Given the description of an element on the screen output the (x, y) to click on. 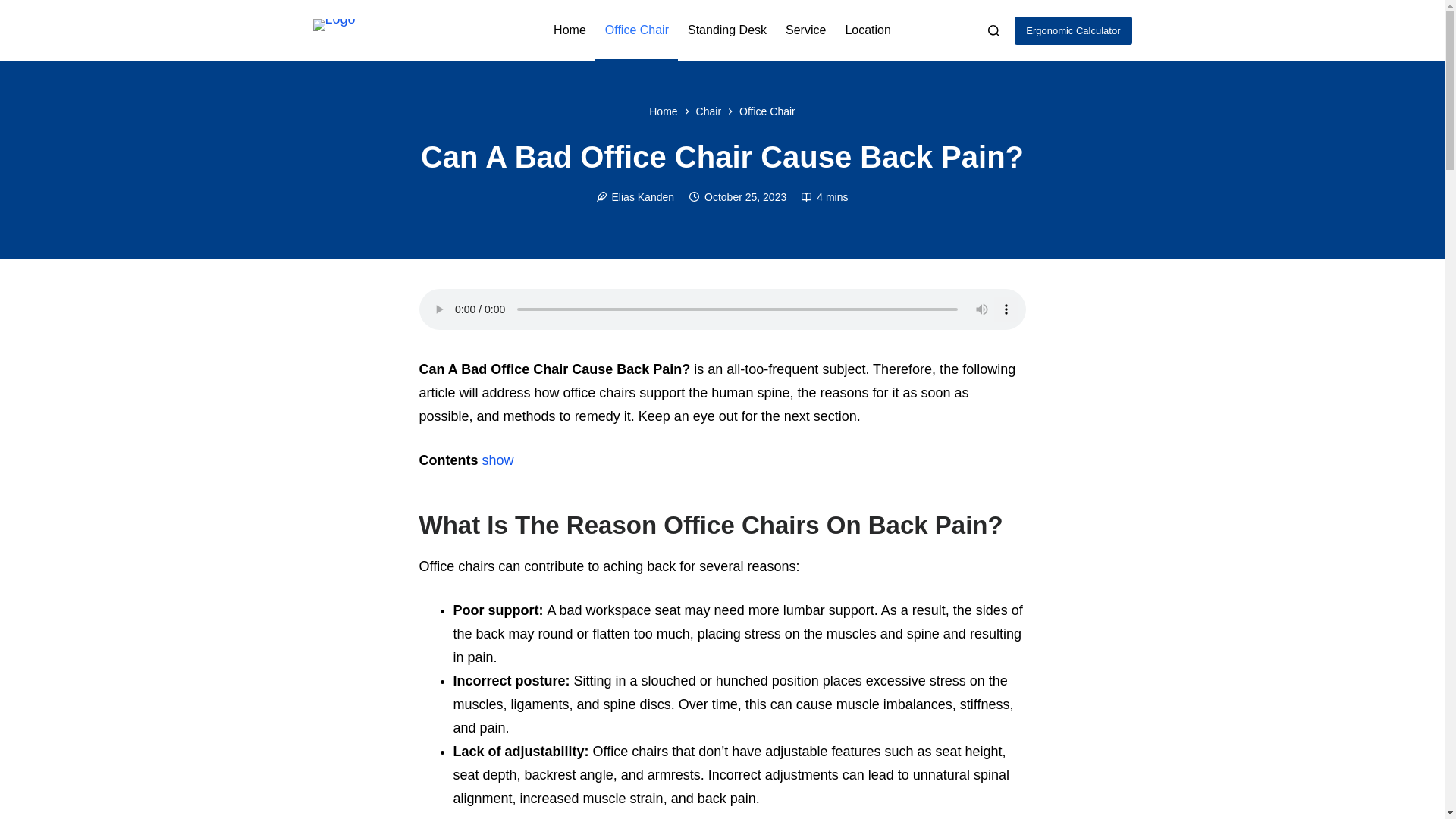
Skip to content (15, 7)
Home (663, 111)
Office Chair (636, 30)
Standing Desk (727, 30)
Posts by Elias Kanden (643, 196)
Chair (707, 111)
Can A Bad Office Chair Cause Back Pain? (722, 156)
Service (805, 30)
Ergonomic Calculator (1072, 30)
show (497, 459)
